Given the description of an element on the screen output the (x, y) to click on. 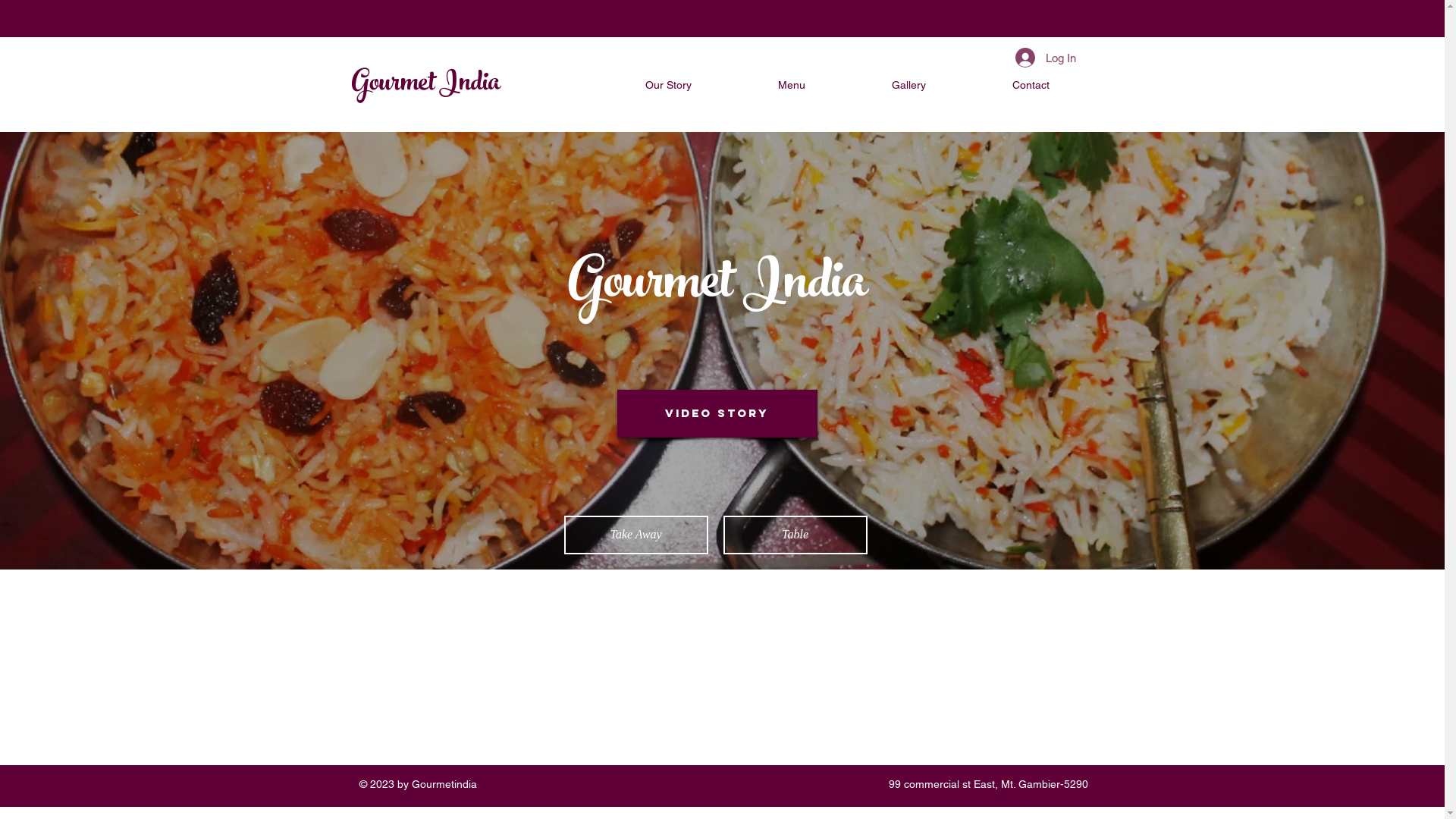
Video Story Element type: text (717, 413)
Log In Element type: text (1044, 57)
Table Element type: text (795, 534)
Take Away Element type: text (636, 534)
Contact Element type: text (1030, 84)
Gourmet India Element type: text (425, 84)
Gallery Element type: text (907, 84)
Our Story Element type: text (668, 84)
